Given the description of an element on the screen output the (x, y) to click on. 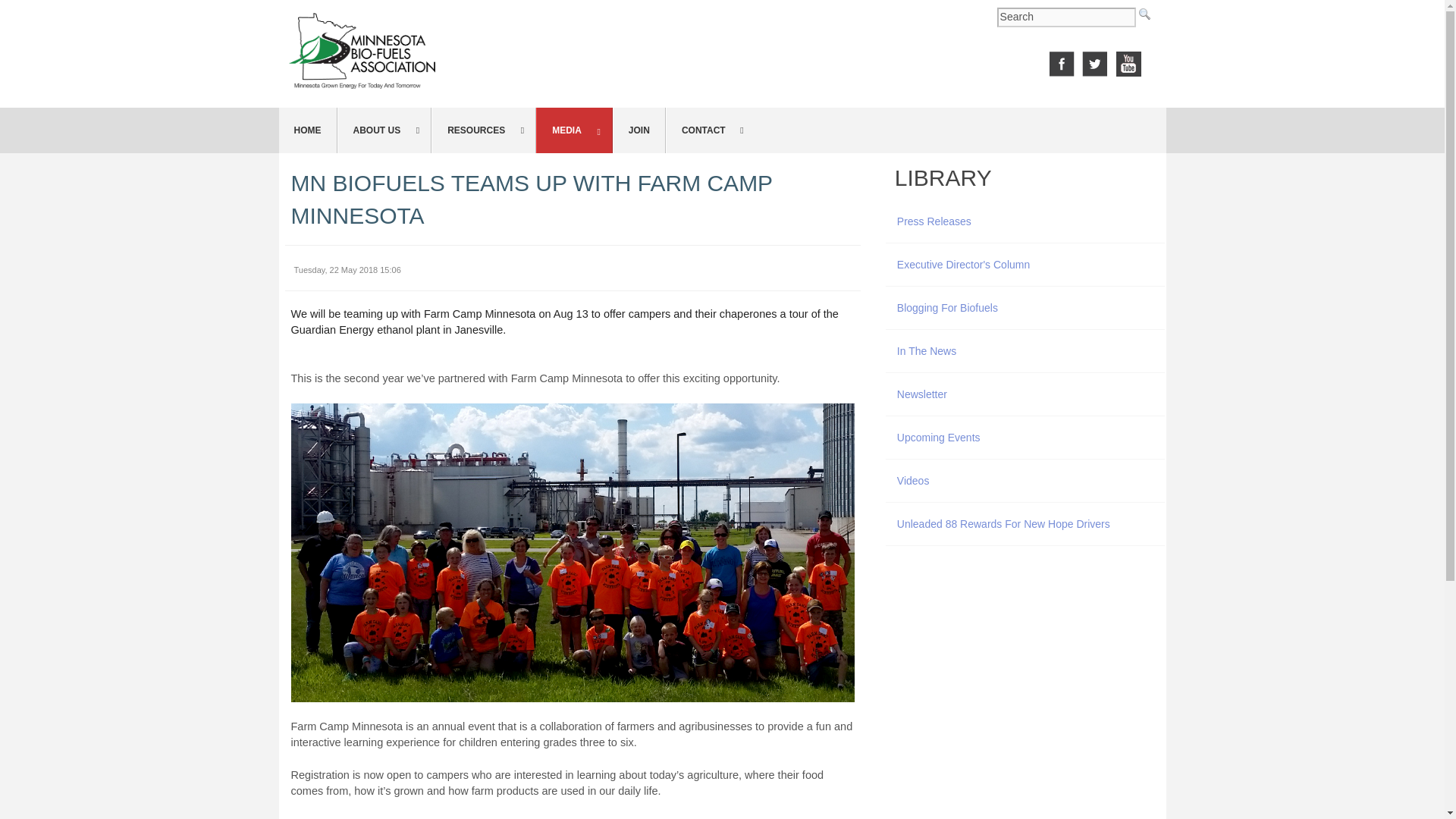
RESOURCES (482, 130)
MEDIA (573, 130)
HOME (308, 130)
Follow MN Bio-Fuels Association on Facebook! (1061, 62)
Visit our YouTube channel (1128, 62)
Search (1066, 17)
ABOUT US (383, 130)
Follow MN Bio-Fuels Association on Twitter! (1095, 62)
